Given the description of an element on the screen output the (x, y) to click on. 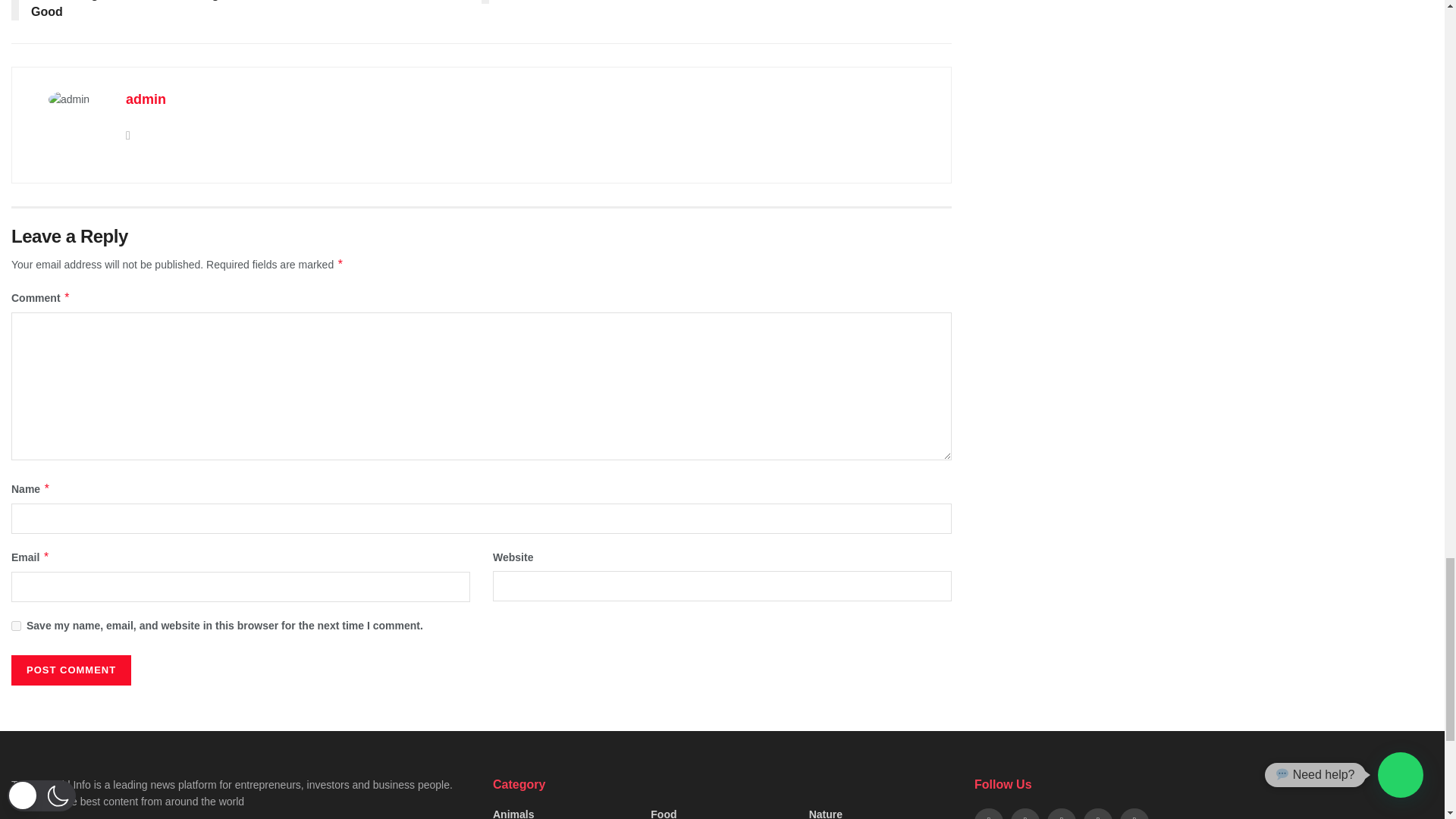
Post Comment (71, 670)
yes (16, 625)
